Given the description of an element on the screen output the (x, y) to click on. 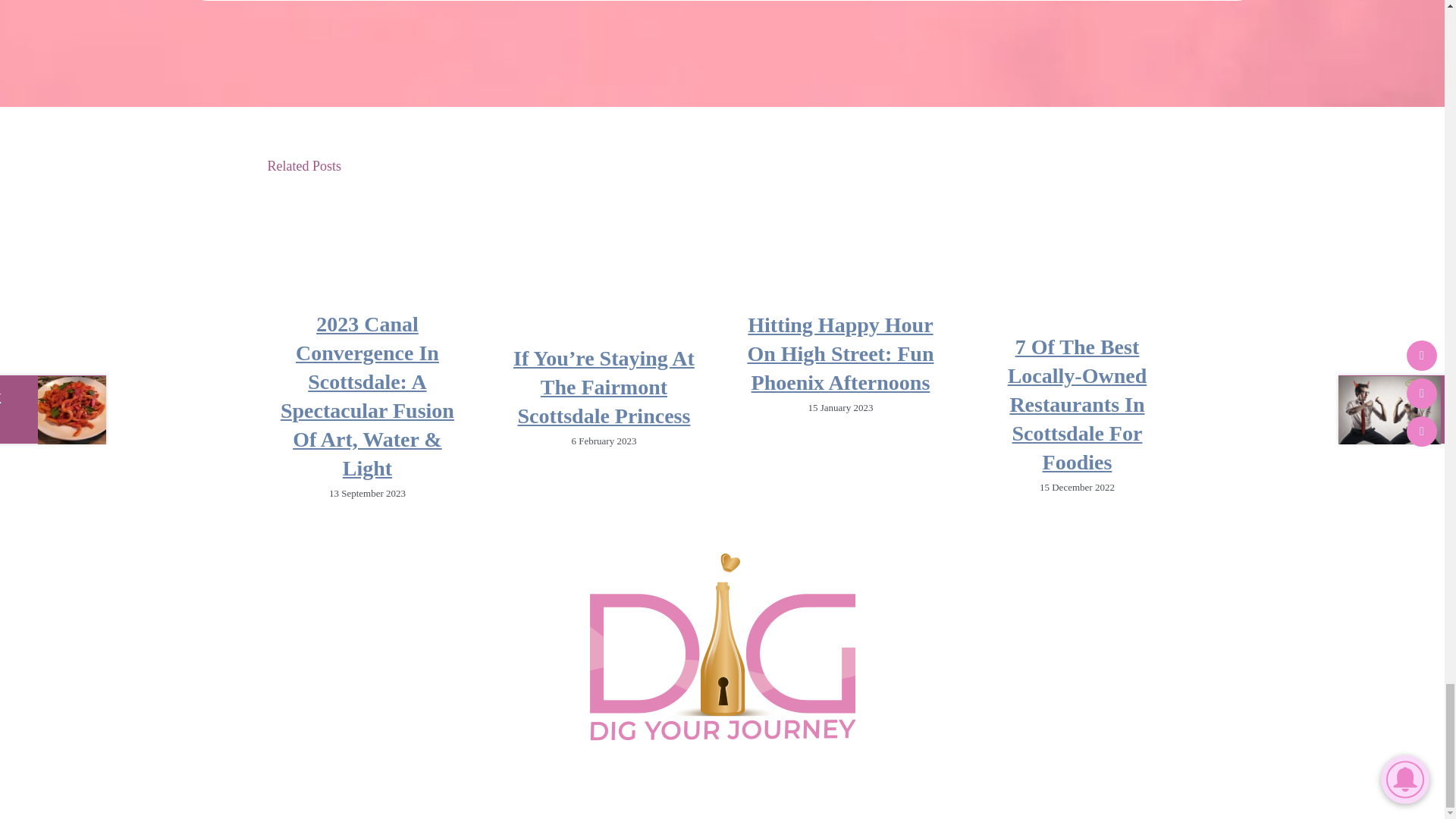
Hitting Happy Hour On High Street: Fun Phoenix Afternoons (839, 352)
